Given the description of an element on the screen output the (x, y) to click on. 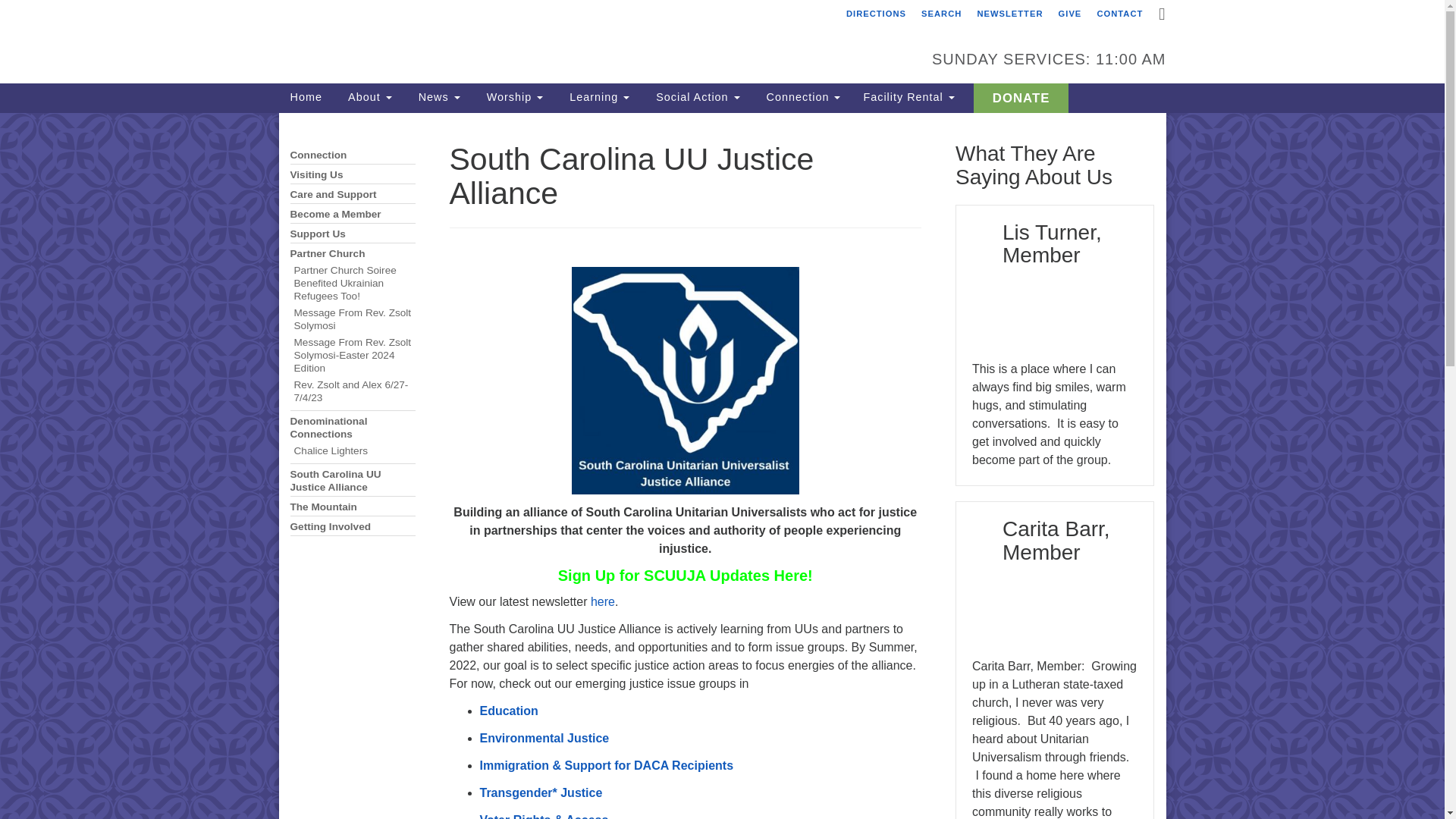
FACEBOOK (1161, 16)
 Worship (512, 96)
About (368, 96)
CONTACT (1119, 13)
NEWSLETTER (1009, 13)
Home (306, 96)
News (437, 96)
 About (368, 96)
GIVE (1069, 13)
